Given the description of an element on the screen output the (x, y) to click on. 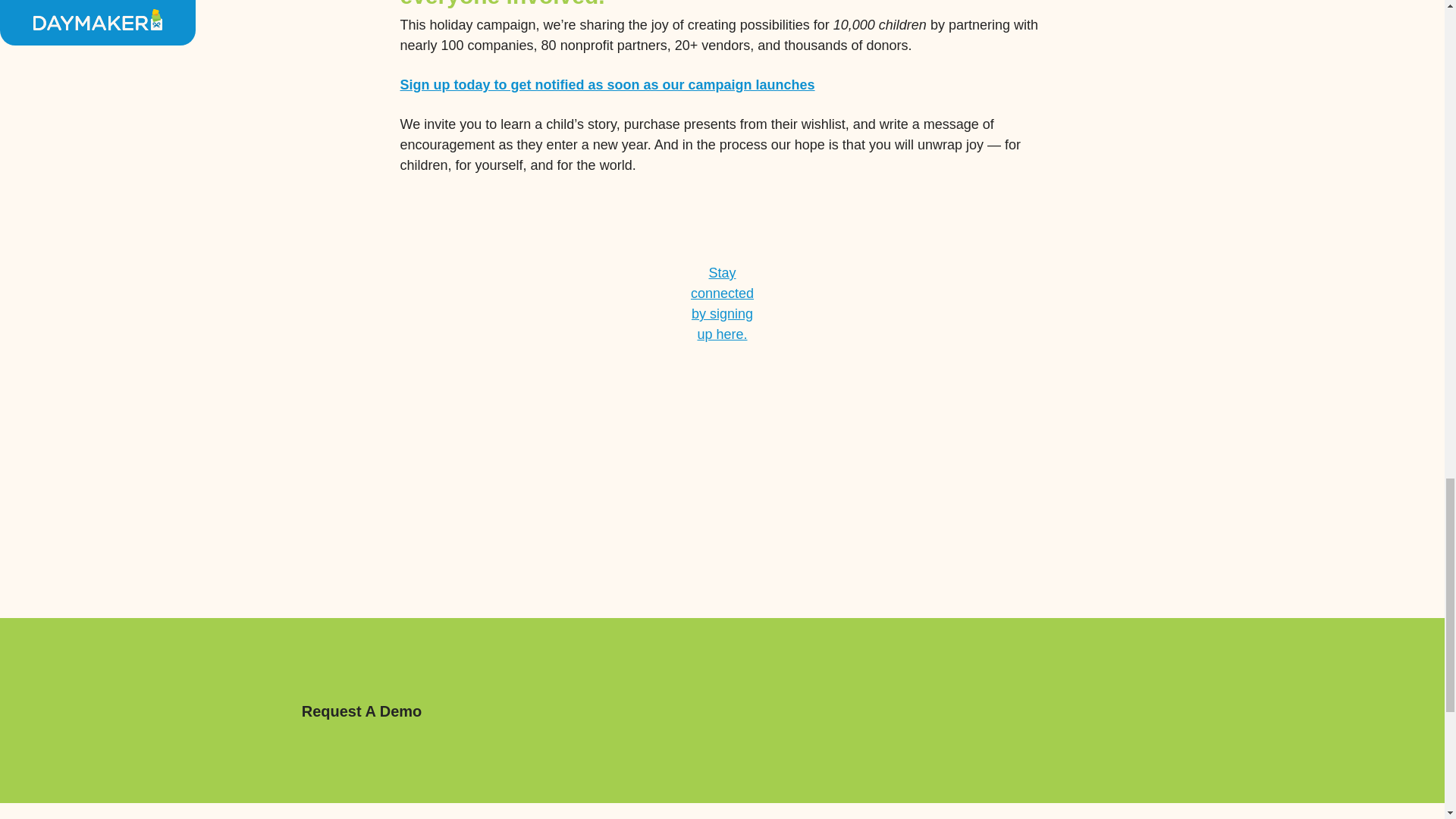
Request A Demo (361, 711)
